Given the description of an element on the screen output the (x, y) to click on. 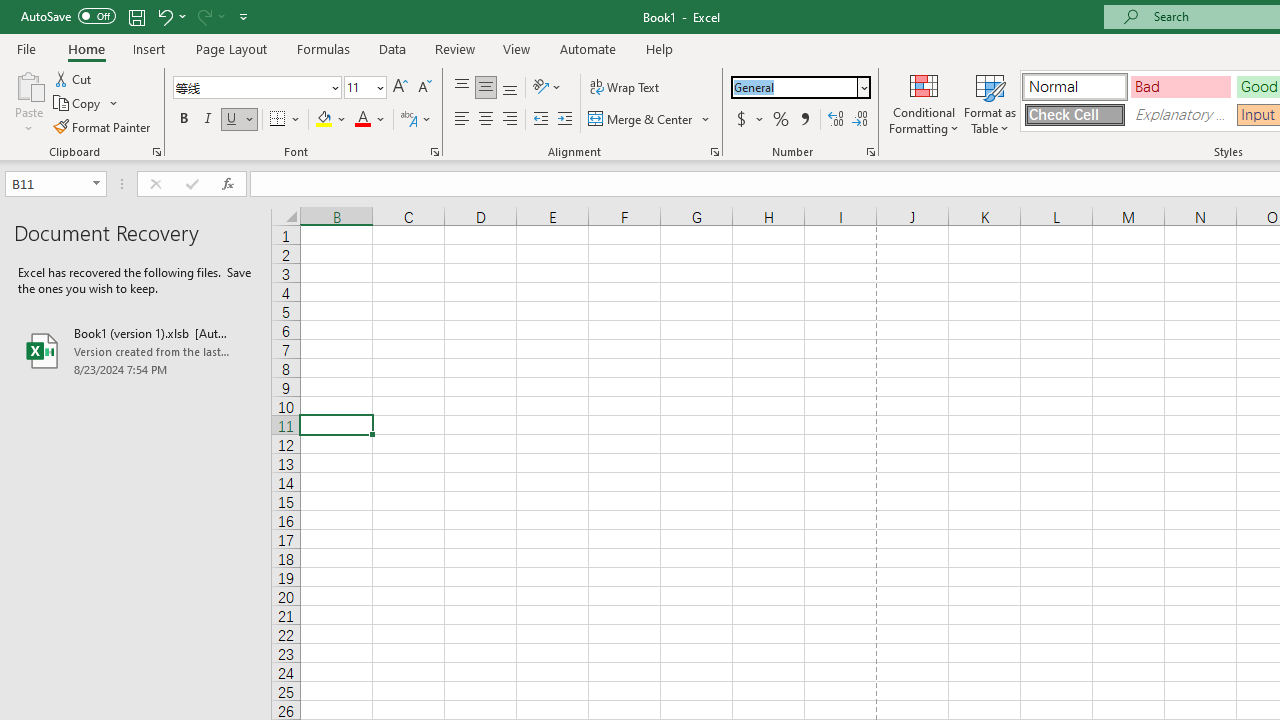
Copy (78, 103)
Decrease Decimal (859, 119)
Show Phonetic Field (408, 119)
Bad (1180, 86)
Increase Indent (565, 119)
Font Size (358, 87)
Bottom Align (509, 87)
Paste (28, 102)
Conditional Formatting (924, 102)
Font Size (365, 87)
Decrease Indent (540, 119)
